Given the description of an element on the screen output the (x, y) to click on. 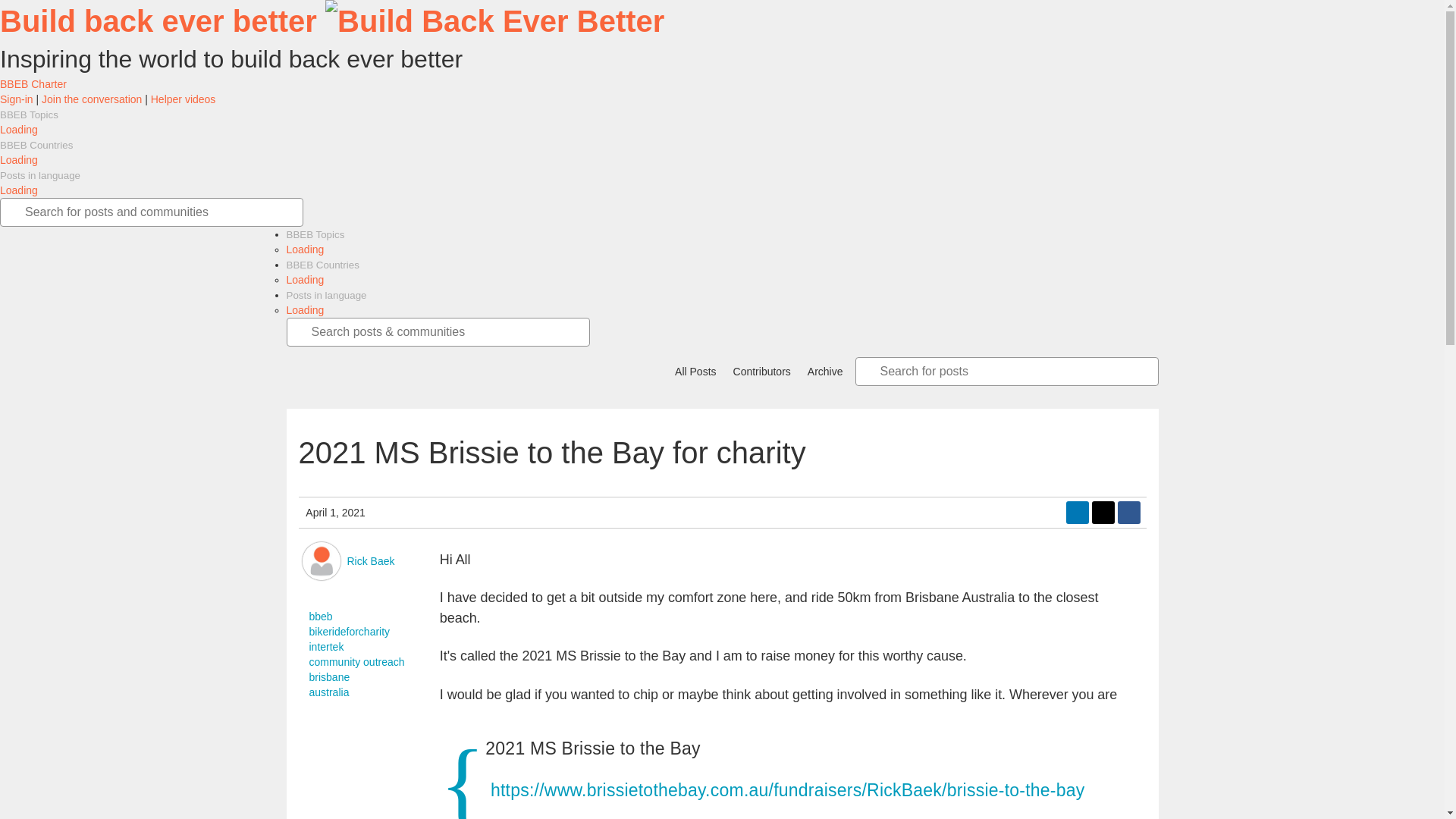
Loading (305, 249)
Archive (823, 371)
BBEB Countries (322, 265)
Helper videos (183, 99)
Posts in language (40, 174)
Posts in language (326, 295)
Loading (18, 159)
BBEB Charter (33, 83)
Contributors (760, 371)
Loading (305, 309)
Join the conversation (91, 99)
BBEB Countries (36, 144)
BBEB Topics (29, 114)
Loading (305, 279)
Loading (18, 190)
